Given the description of an element on the screen output the (x, y) to click on. 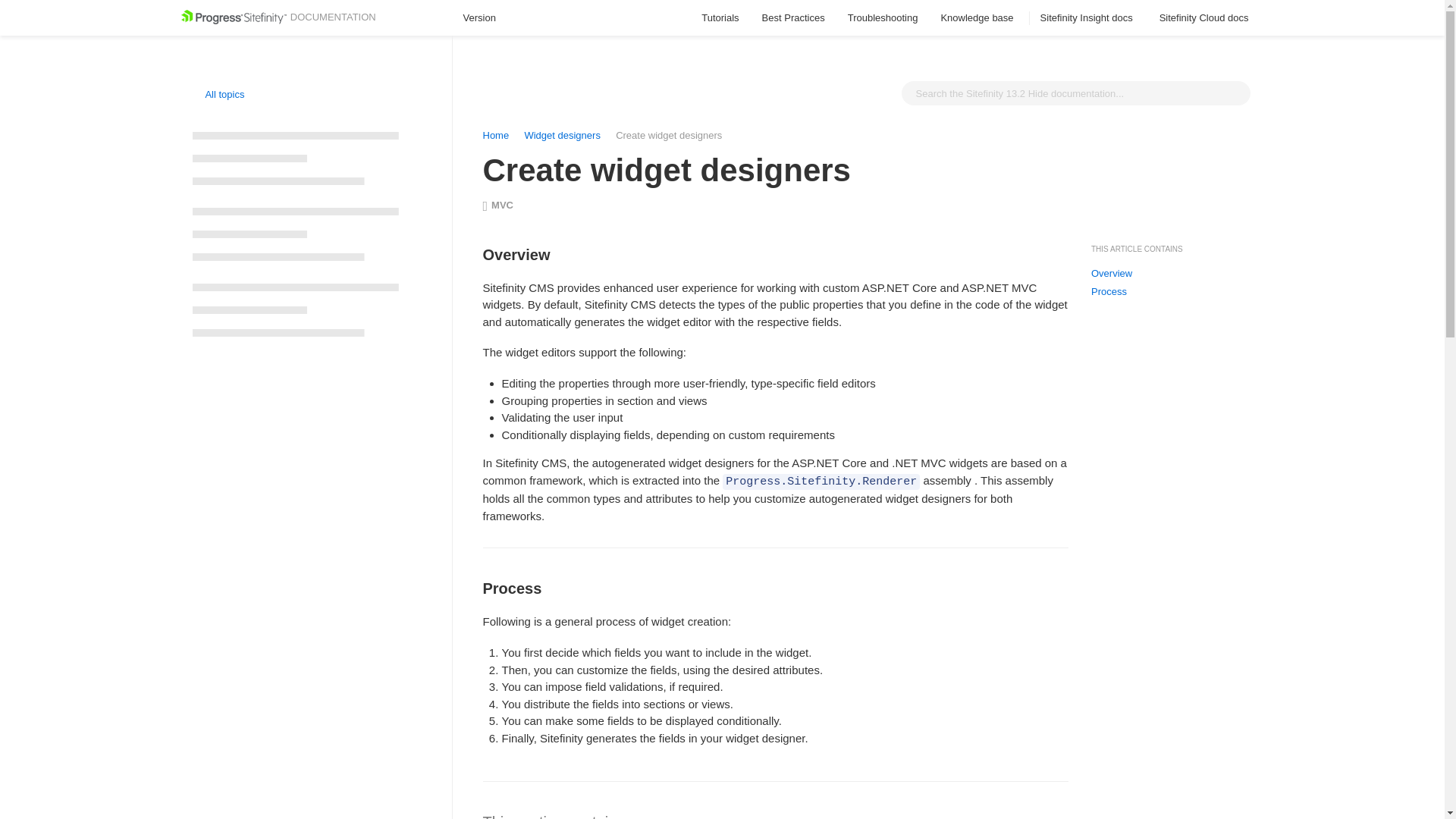
Process (1108, 291)
Sitefinity Insight docs (1088, 18)
Version (486, 18)
All topics (218, 93)
Best Practices (793, 18)
Overview (774, 229)
Sitefinity Cloud docs (1205, 18)
Overview (1111, 273)
Search (1234, 93)
DOCUMENTATION (277, 16)
Tutorials (719, 18)
Troubleshooting (882, 18)
Widget designers (563, 134)
Knowledge base (977, 18)
Home (494, 134)
